Given the description of an element on the screen output the (x, y) to click on. 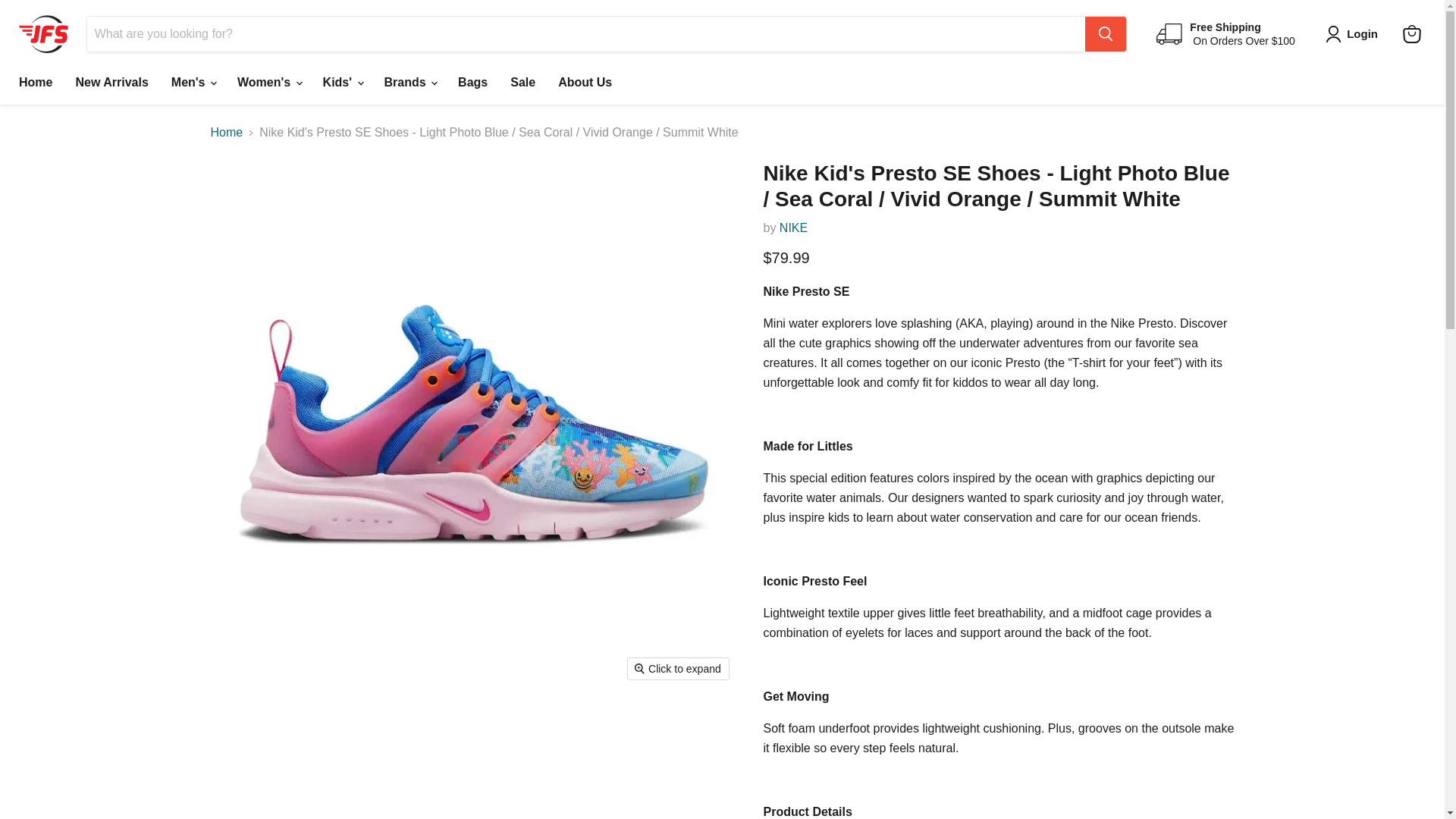
About Us (585, 82)
Login (1354, 34)
New Arrivals (111, 82)
Home (35, 82)
Bags (472, 82)
Sale (523, 82)
View cart (1411, 33)
NIKE (793, 227)
